Given the description of an element on the screen output the (x, y) to click on. 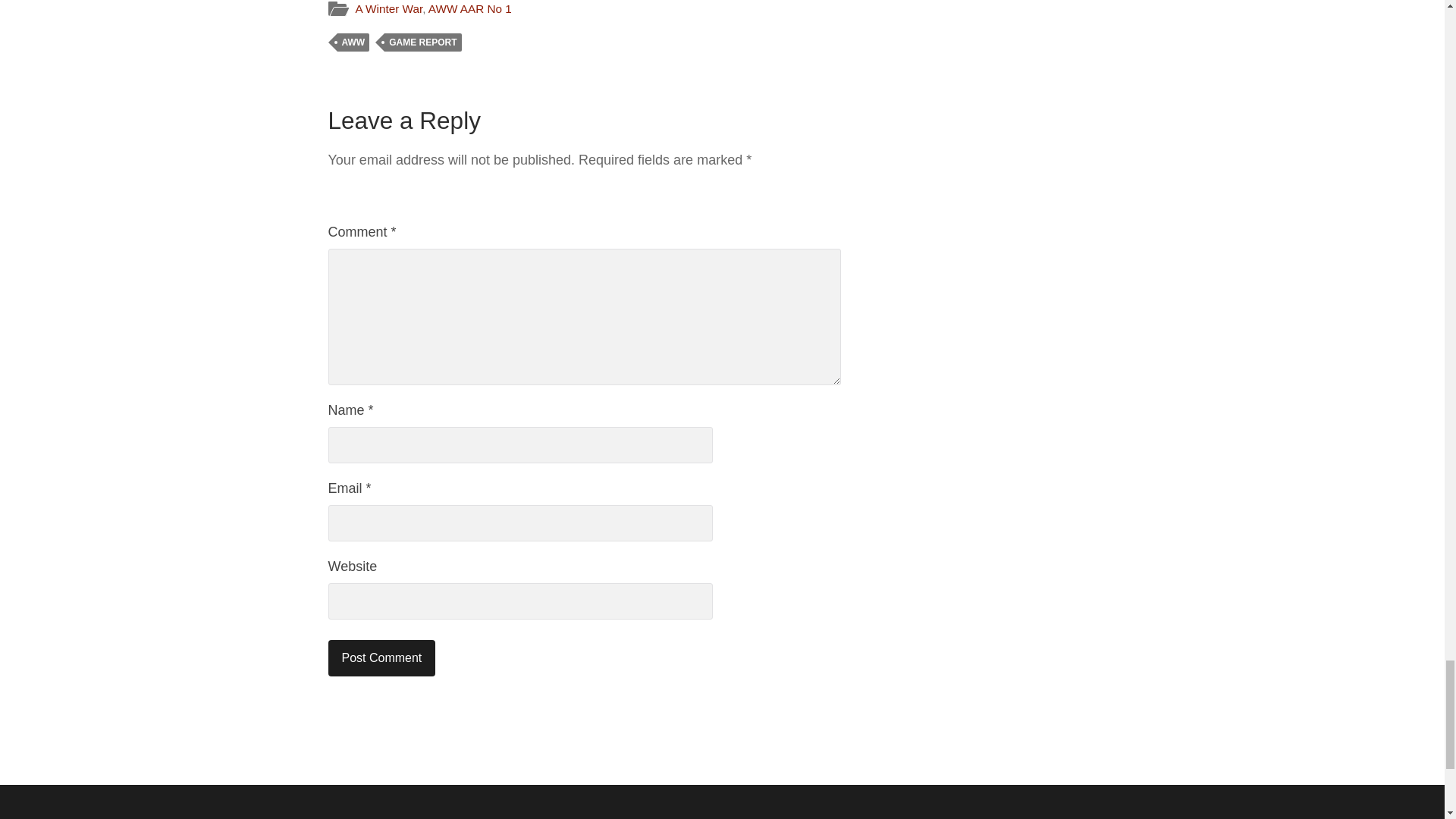
Post Comment (381, 657)
